Given the description of an element on the screen output the (x, y) to click on. 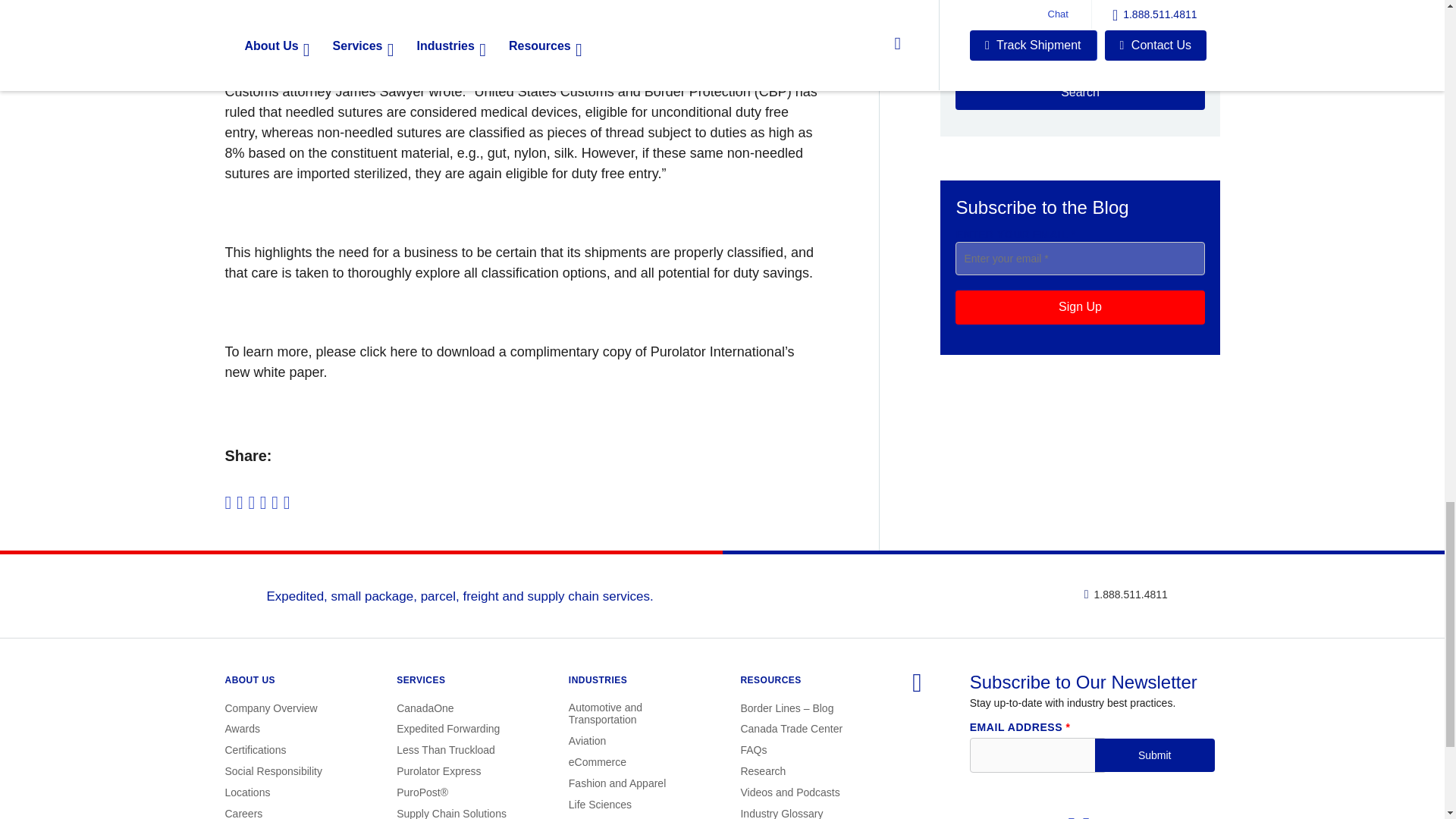
Submit (1154, 755)
Sign Up (1079, 306)
Search (1079, 92)
Enter your email (1079, 257)
Search (1079, 92)
